Given the description of an element on the screen output the (x, y) to click on. 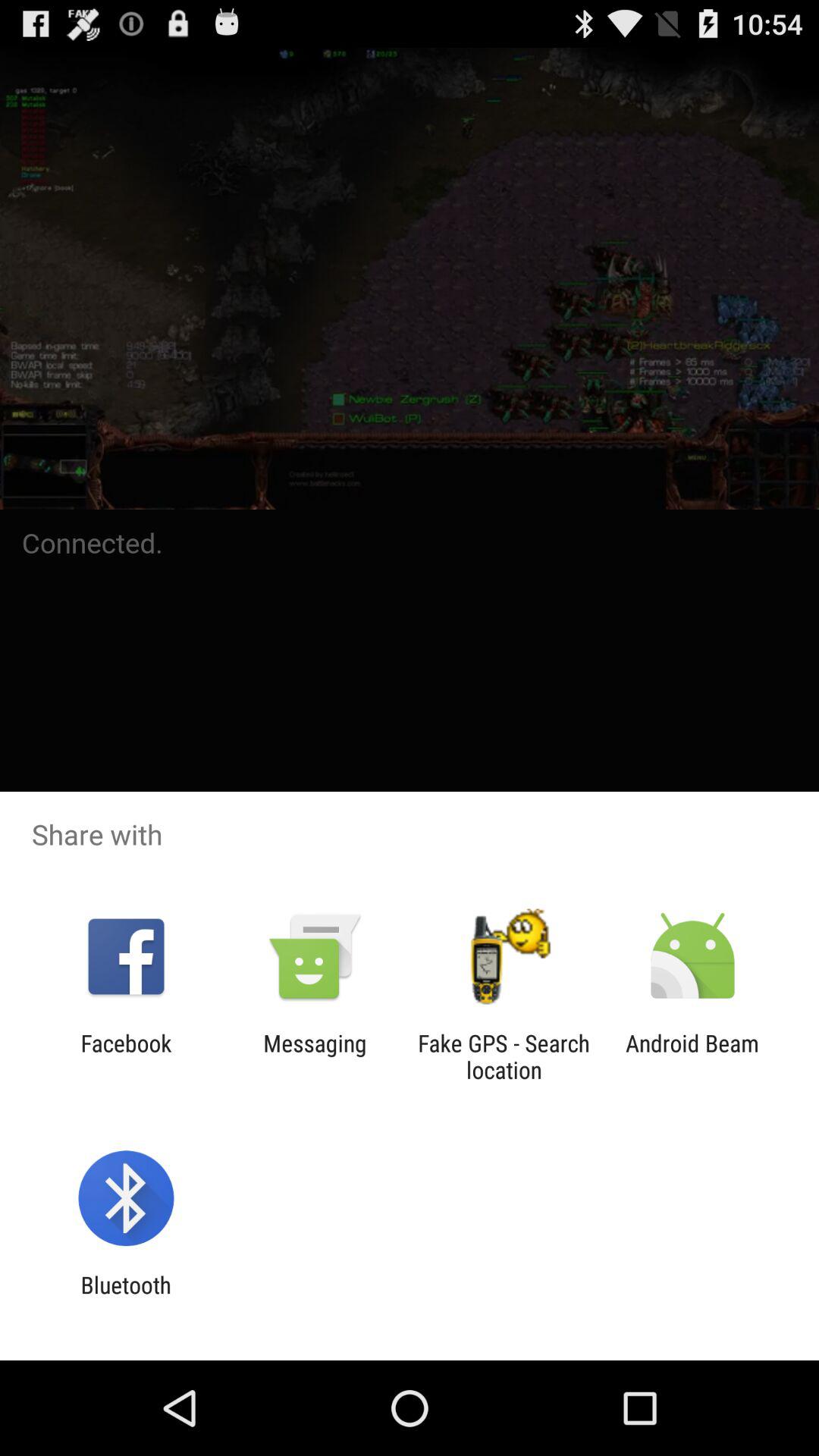
turn off app to the left of the messaging item (125, 1056)
